Given the description of an element on the screen output the (x, y) to click on. 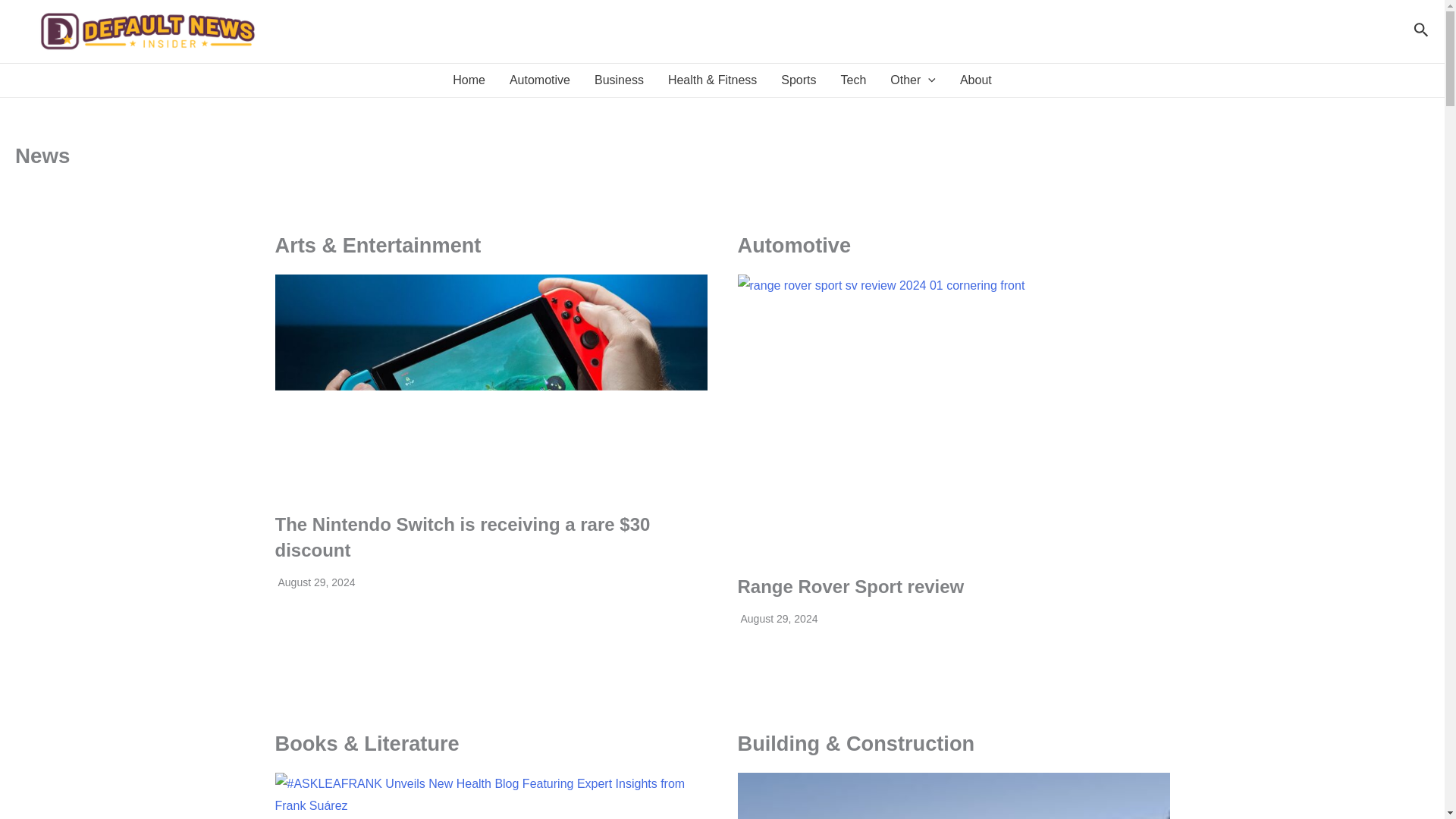
Home (469, 80)
Tech (853, 80)
Business (619, 80)
About (975, 80)
Automotive (539, 80)
Sports (798, 80)
Other (912, 80)
